Given the description of an element on the screen output the (x, y) to click on. 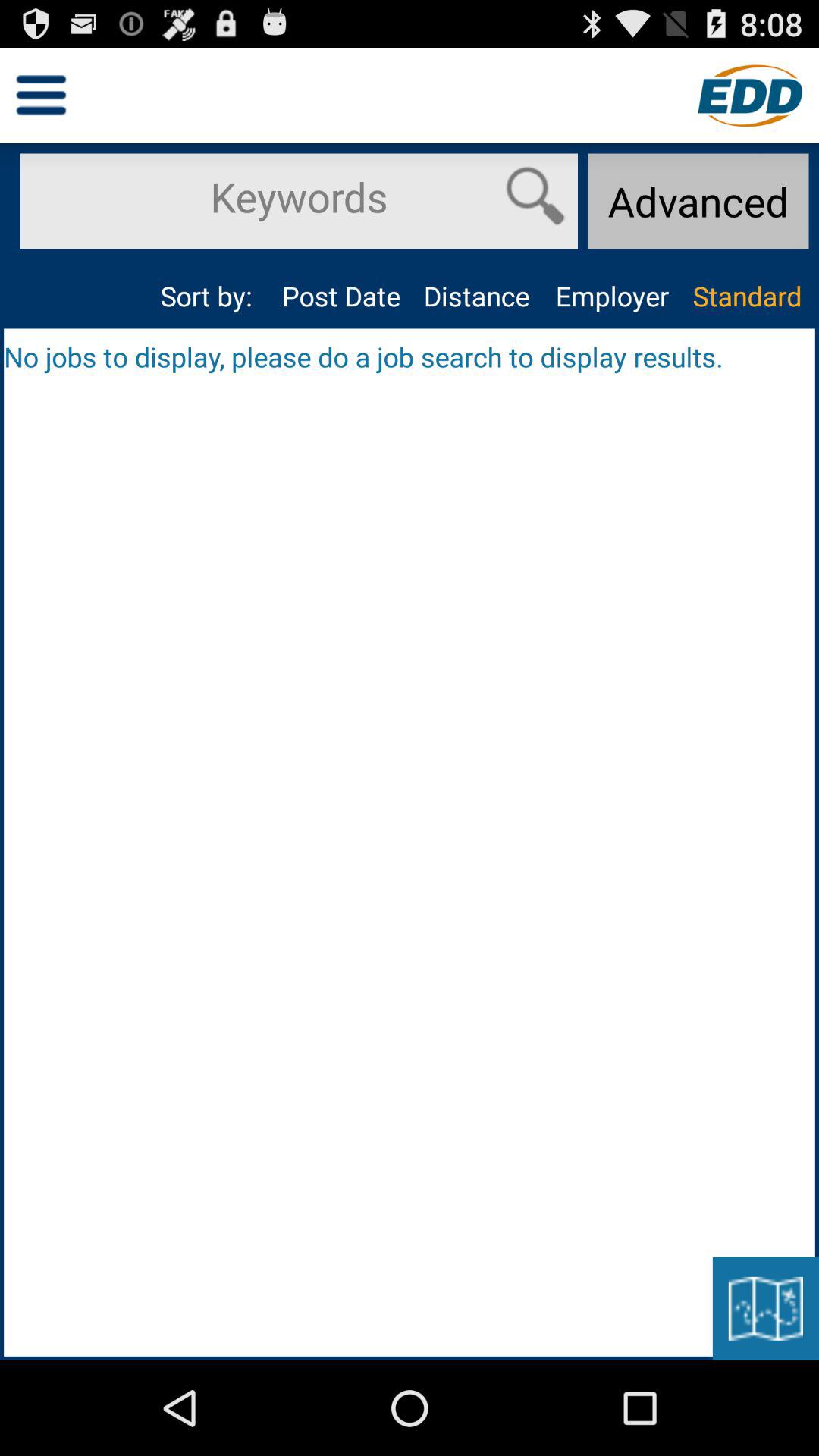
turn on the app above the no jobs to item (611, 295)
